Given the description of an element on the screen output the (x, y) to click on. 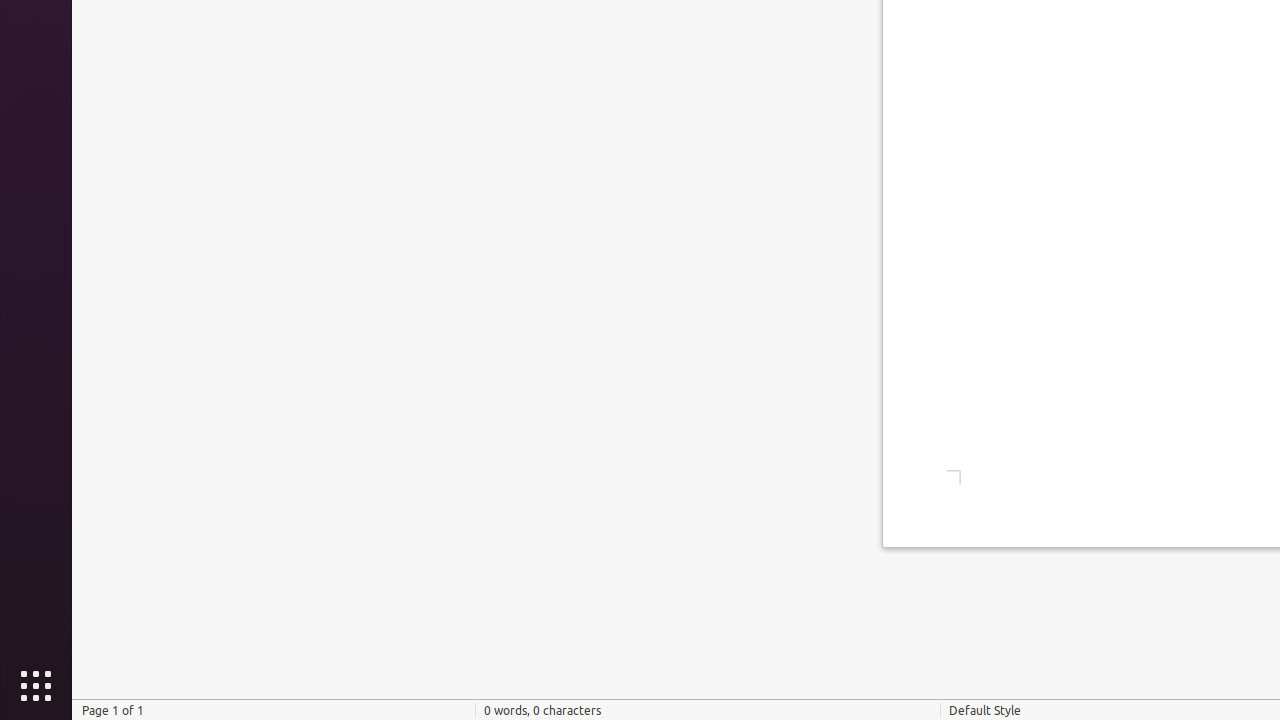
Show Applications Element type: toggle-button (36, 686)
